Given the description of an element on the screen output the (x, y) to click on. 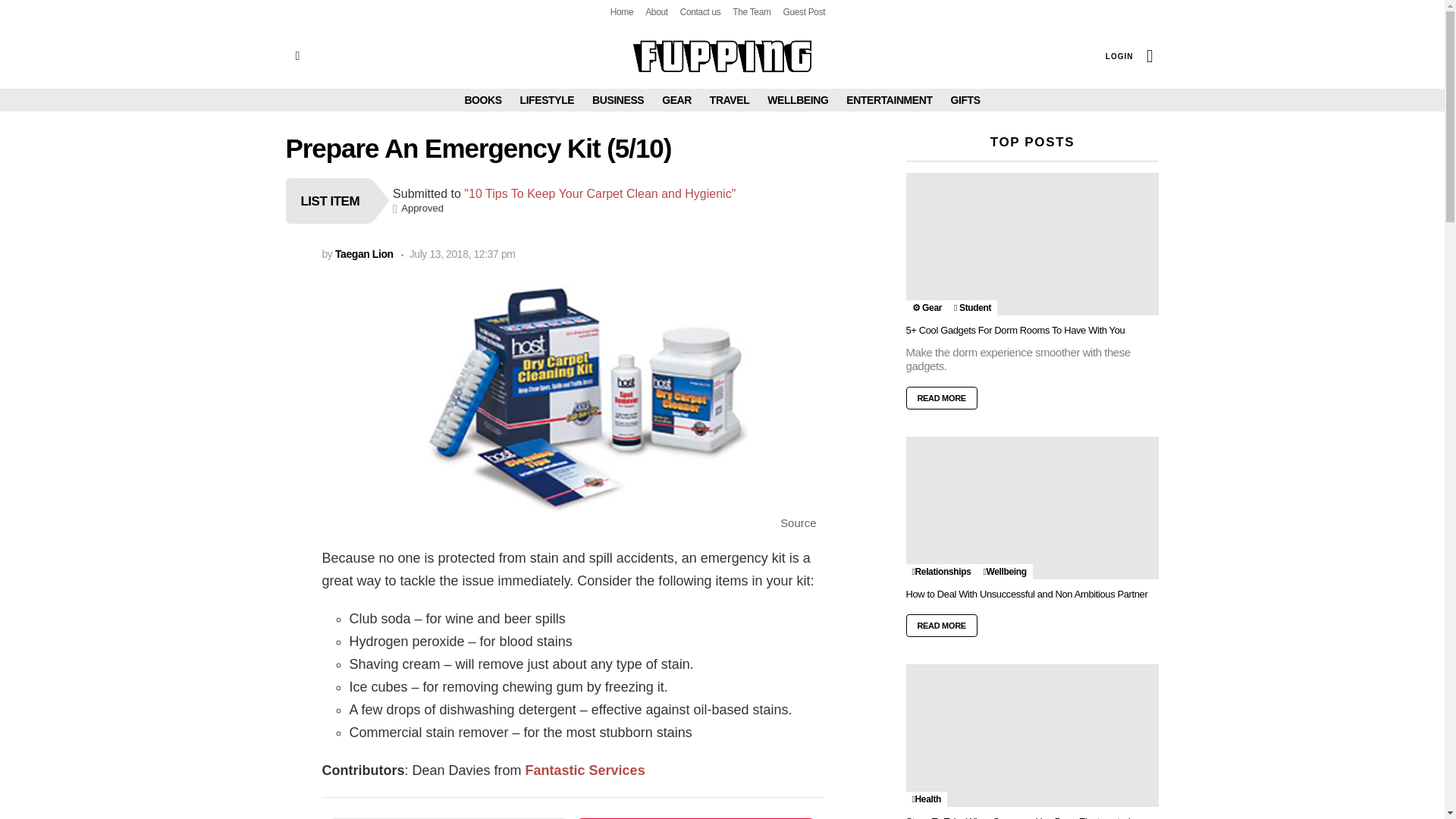
BUSINESS (617, 99)
Home (621, 12)
"10 Tips To Keep Your Carpet Clean and Hygienic" (599, 193)
GEAR (675, 99)
Contact us (699, 12)
Posts by Taegan Lion (363, 254)
About (656, 12)
How to Deal With Unsuccessful and Non Ambitious Partner (1031, 507)
GIFTS (964, 99)
ENTERTAINMENT (888, 99)
Fantastic Services (585, 770)
WELLBEING (797, 99)
Steps To Take When Someone Has Been Electrocuted (1031, 735)
Menu (296, 55)
TRAVEL (729, 99)
